Given the description of an element on the screen output the (x, y) to click on. 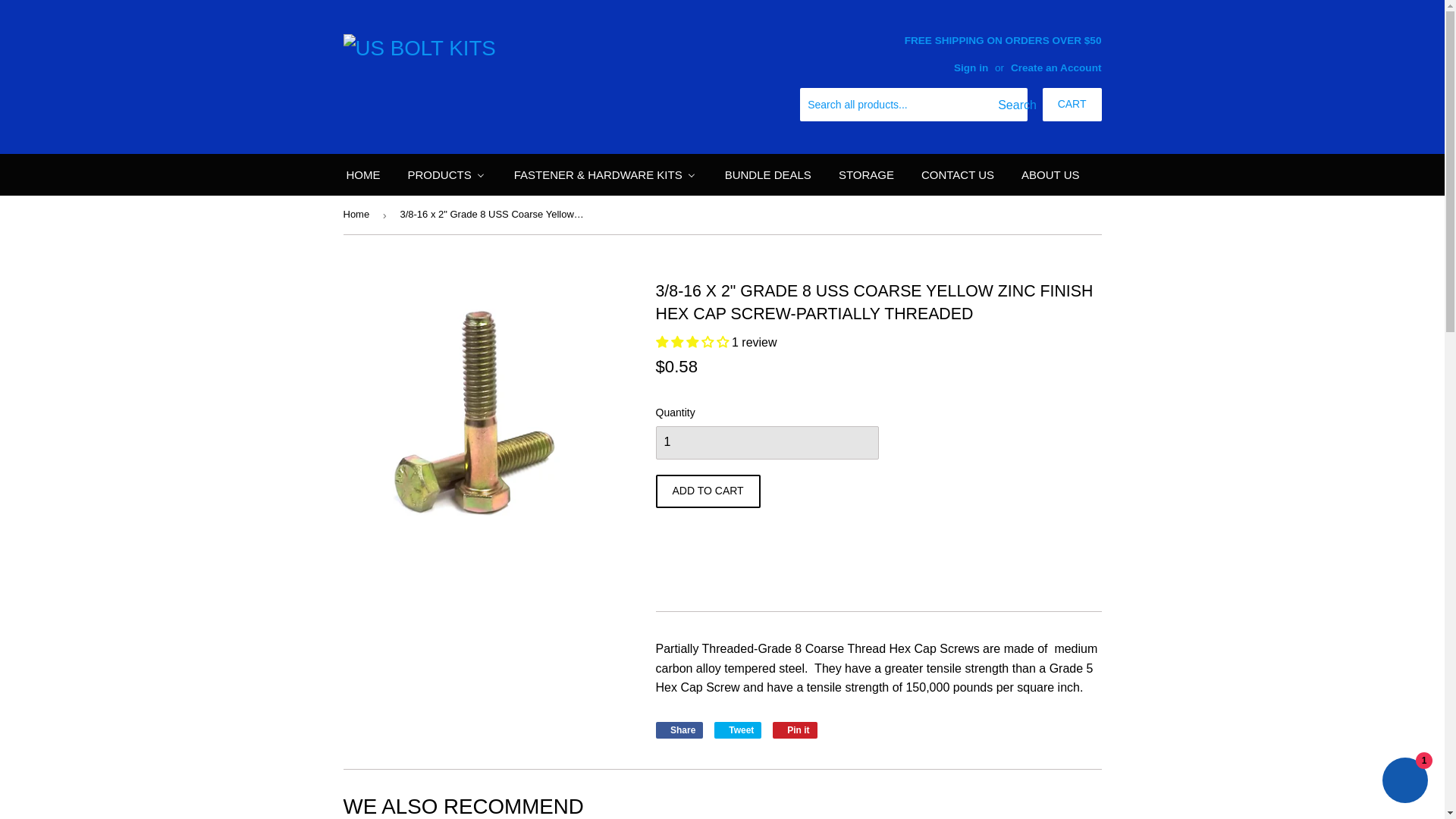
Shopify online store chat (1404, 781)
Search (1009, 105)
Share on Facebook (679, 729)
CART (1072, 104)
Pin on Pinterest (794, 729)
Back to the frontpage (358, 214)
1 (766, 442)
Tweet on Twitter (737, 729)
Create an Account (1056, 67)
Sign in (970, 67)
